Given the description of an element on the screen output the (x, y) to click on. 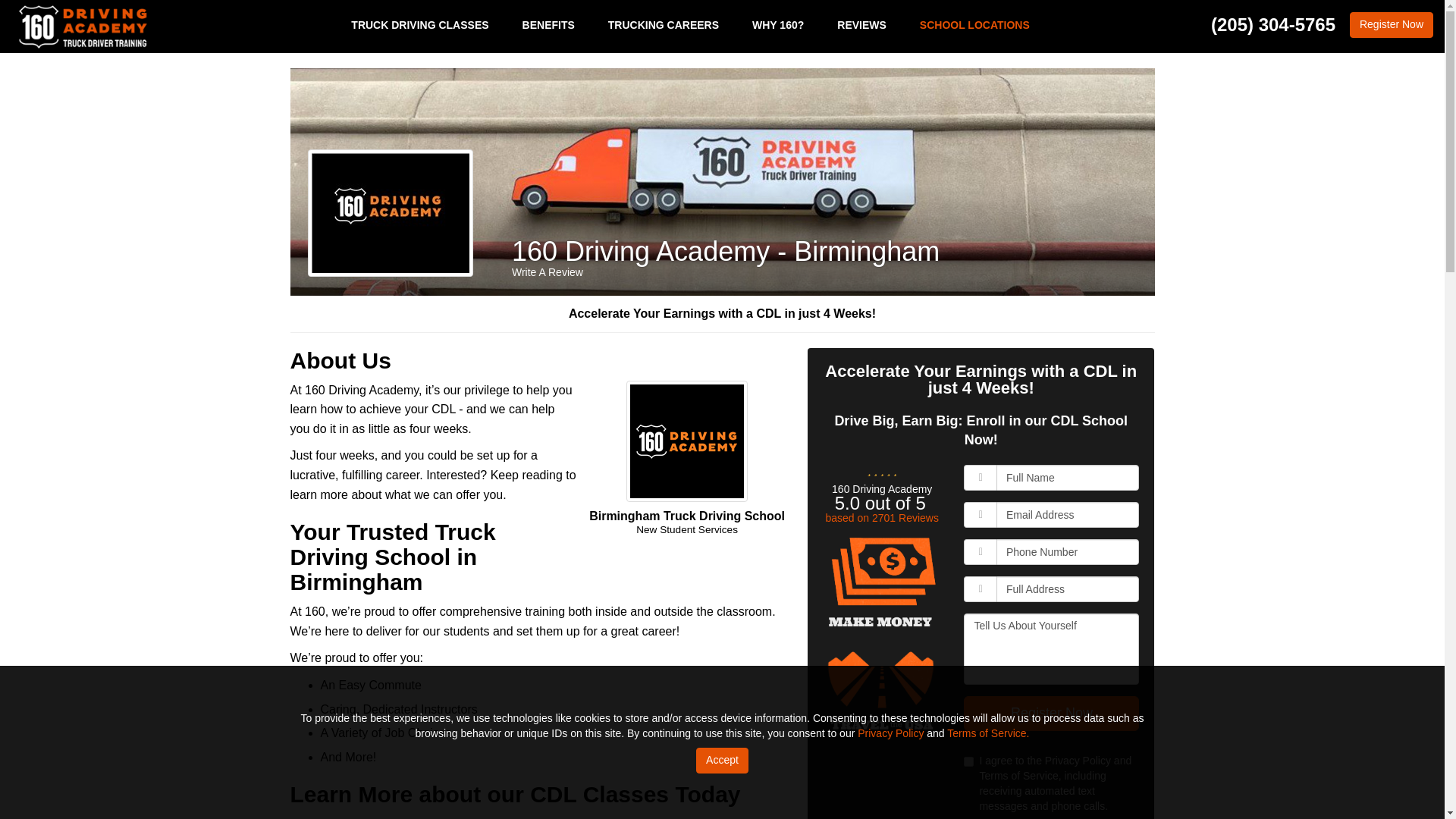
BENEFITS (548, 24)
TRUCK DRIVING CLASSES (419, 24)
Register Now (1050, 713)
Register Now (1390, 24)
Write A Review (547, 272)
based on 2701 Reviews (881, 517)
TRUCKING CAREERS (663, 24)
on (968, 761)
REVIEWS (861, 24)
WHY 160? (778, 24)
SCHOOL LOCATIONS (974, 24)
